Given the description of an element on the screen output the (x, y) to click on. 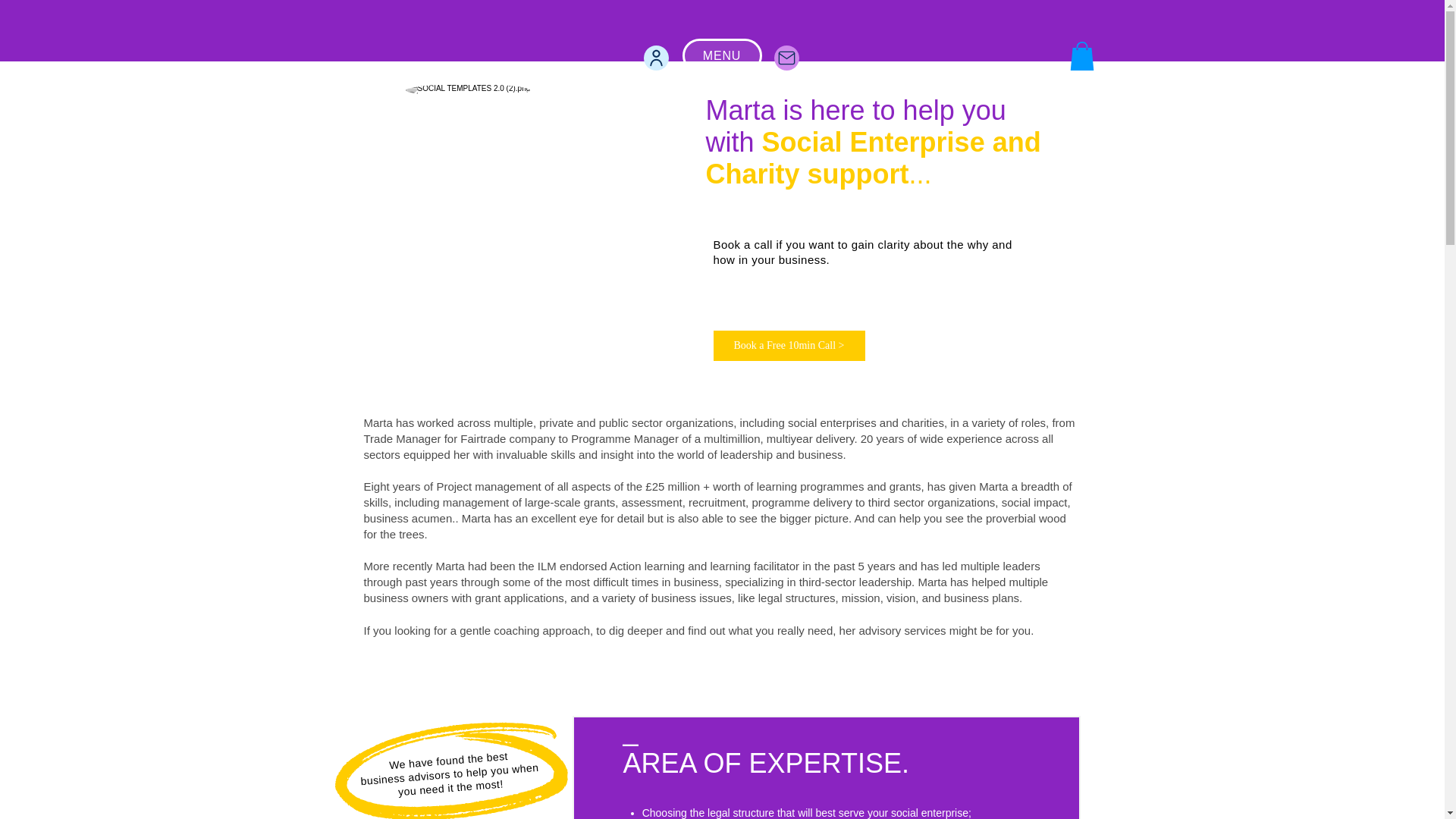
MENU (721, 55)
